Given the description of an element on the screen output the (x, y) to click on. 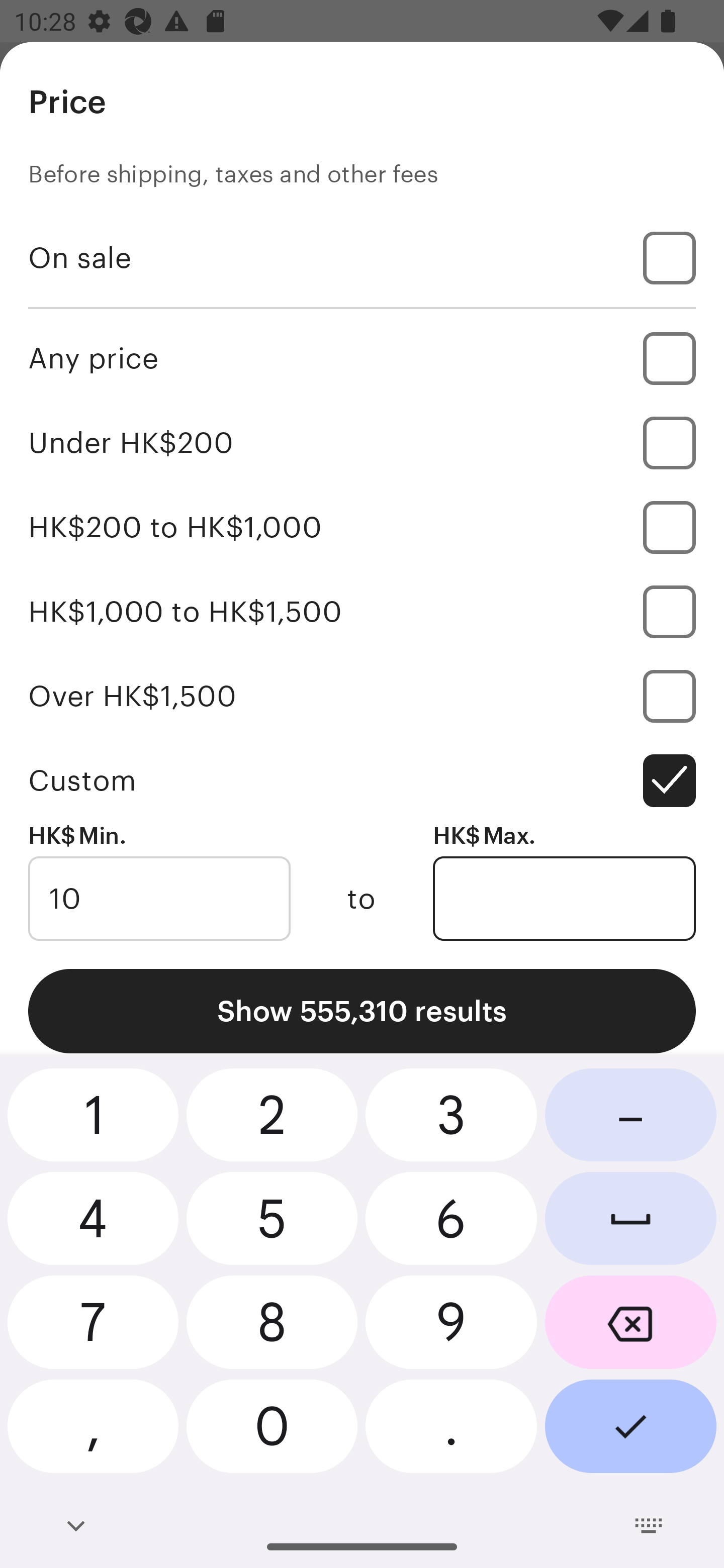
On sale (362, 257)
Any price (362, 357)
Under HK$200 (362, 441)
HK$200 to HK$1,000 (362, 526)
HK$1,000 to HK$1,500 (362, 611)
Over HK$1,500 (362, 695)
Custom (362, 780)
10 (159, 898)
Show 555,310 results (361, 1011)
